Given the description of an element on the screen output the (x, y) to click on. 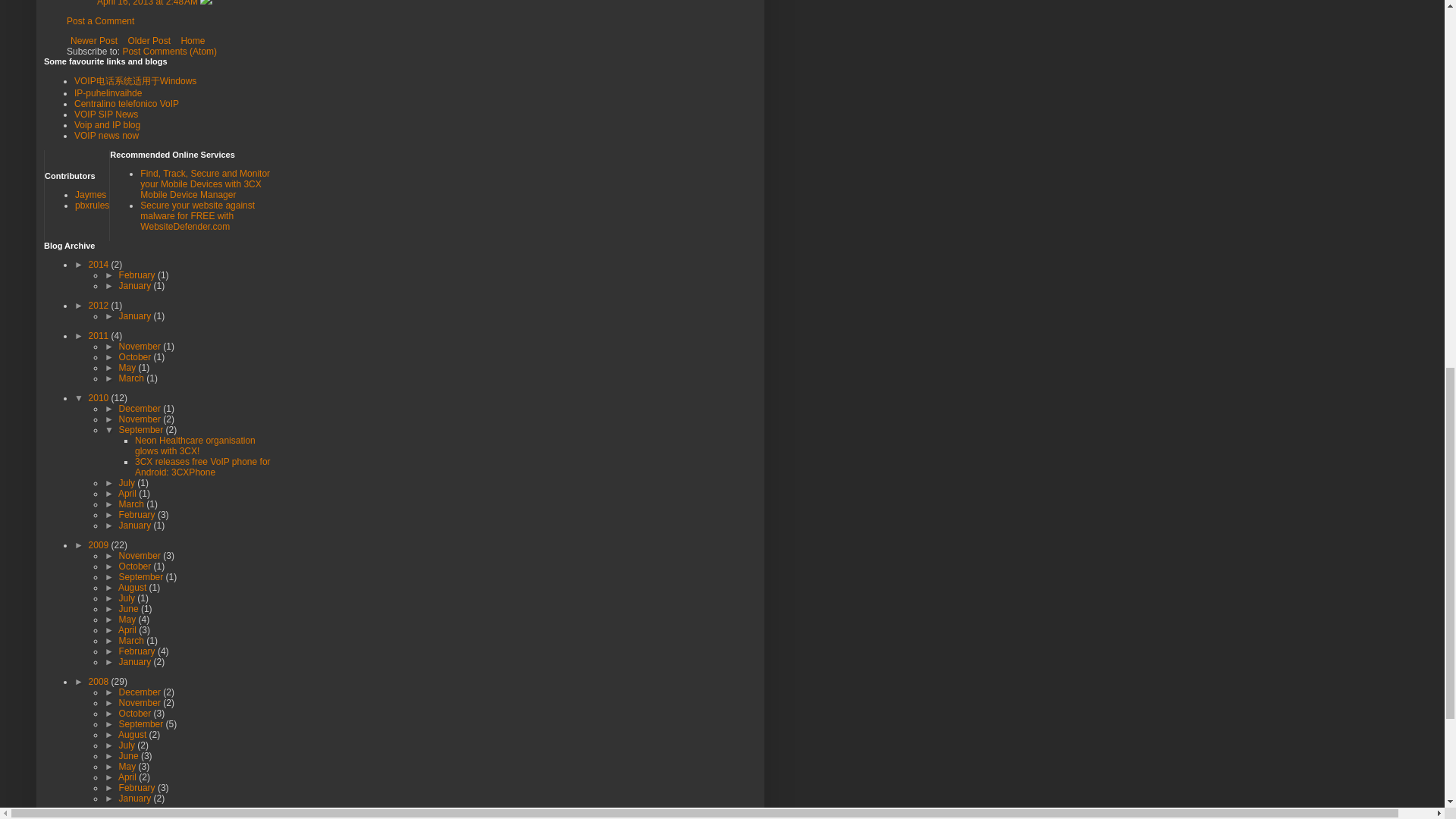
VOIP news now (106, 135)
pbxrules (92, 204)
Delete Comment (206, 3)
Post a Comment (99, 20)
Centralino telefonico VoIP (126, 103)
Older Post (148, 40)
Newer Post (93, 40)
IP-puhelinvaihde (107, 92)
comment permalink (148, 3)
Newer Post (93, 40)
Home (192, 40)
VOIP SIP News (106, 113)
Jaymes (90, 194)
Older Post (148, 40)
